Given the description of an element on the screen output the (x, y) to click on. 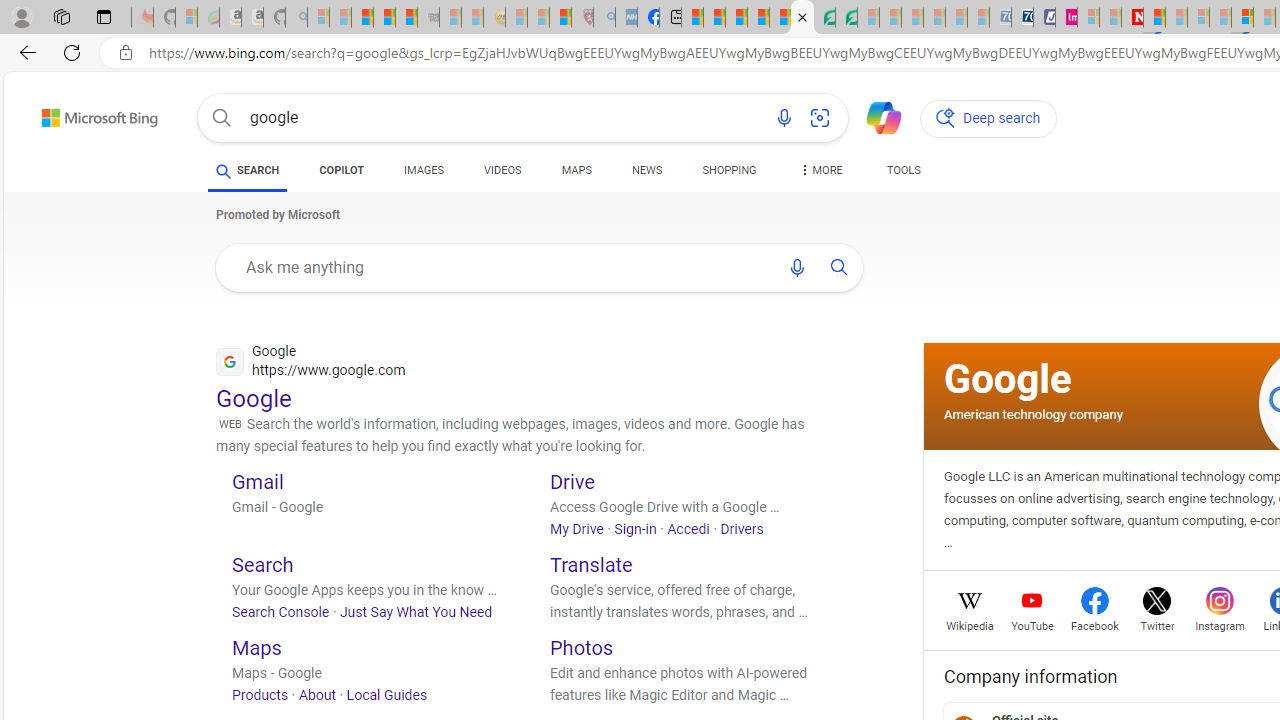
Just Say What You Need (415, 611)
SHOPPING (729, 170)
My Drive (577, 528)
Chat (875, 116)
Drive (572, 480)
Drivers (741, 528)
Dropdown Menu (819, 170)
Maps (256, 647)
